Given the description of an element on the screen output the (x, y) to click on. 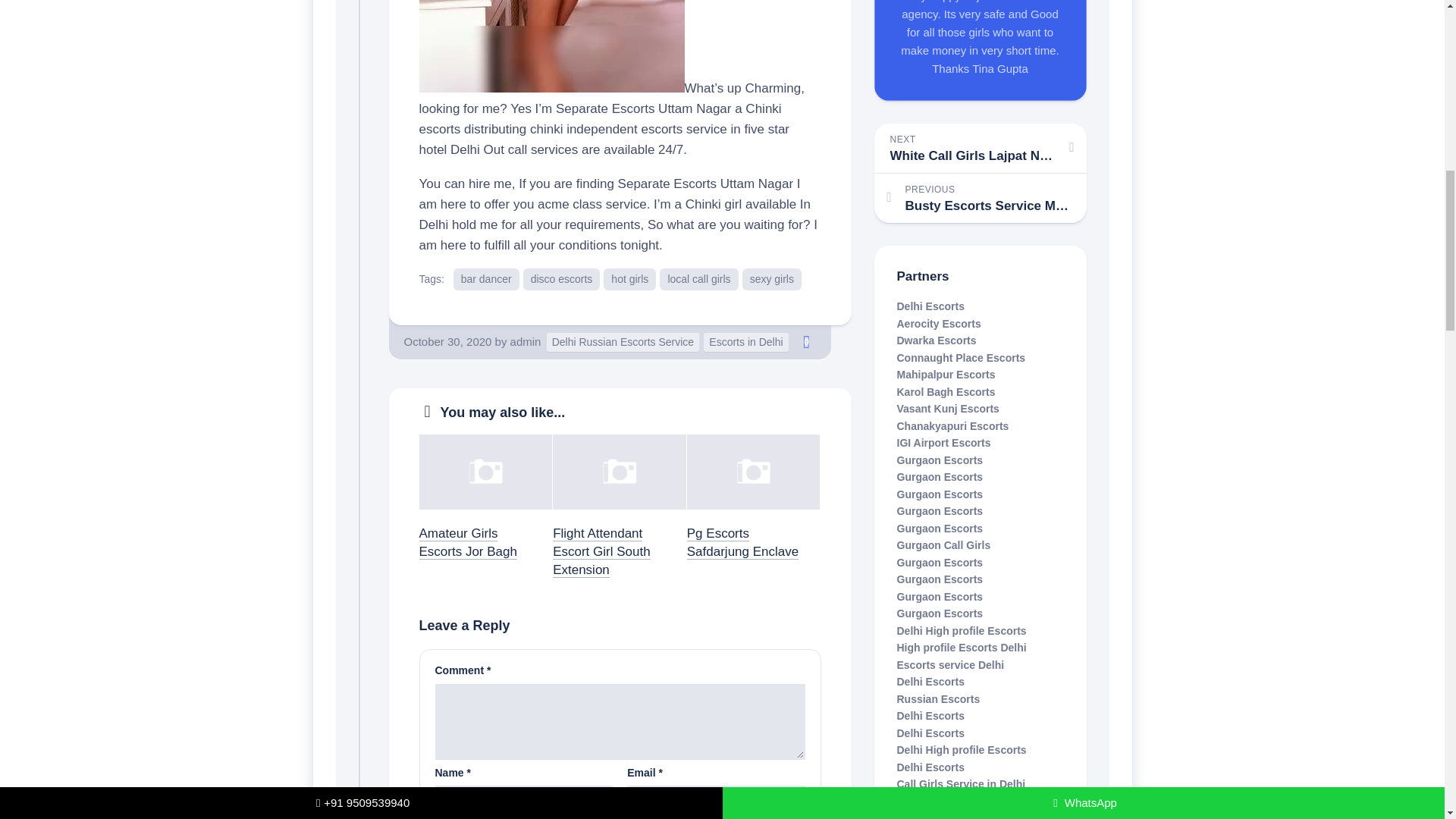
sexy girls (979, 147)
Flight Attendant Escort Girl South Extension (772, 279)
0 (601, 551)
bar dancer (806, 341)
admin (485, 279)
Escorts in Delhi (526, 341)
Amateur Girls Escorts Jor Bagh (979, 197)
Delhi Escorts (745, 342)
Posts by admin (467, 542)
Pg Escorts Safdarjung Enclave (929, 306)
hot girls (526, 341)
disco escorts (742, 542)
Delhi Russian Escorts Service (630, 279)
